Given the description of an element on the screen output the (x, y) to click on. 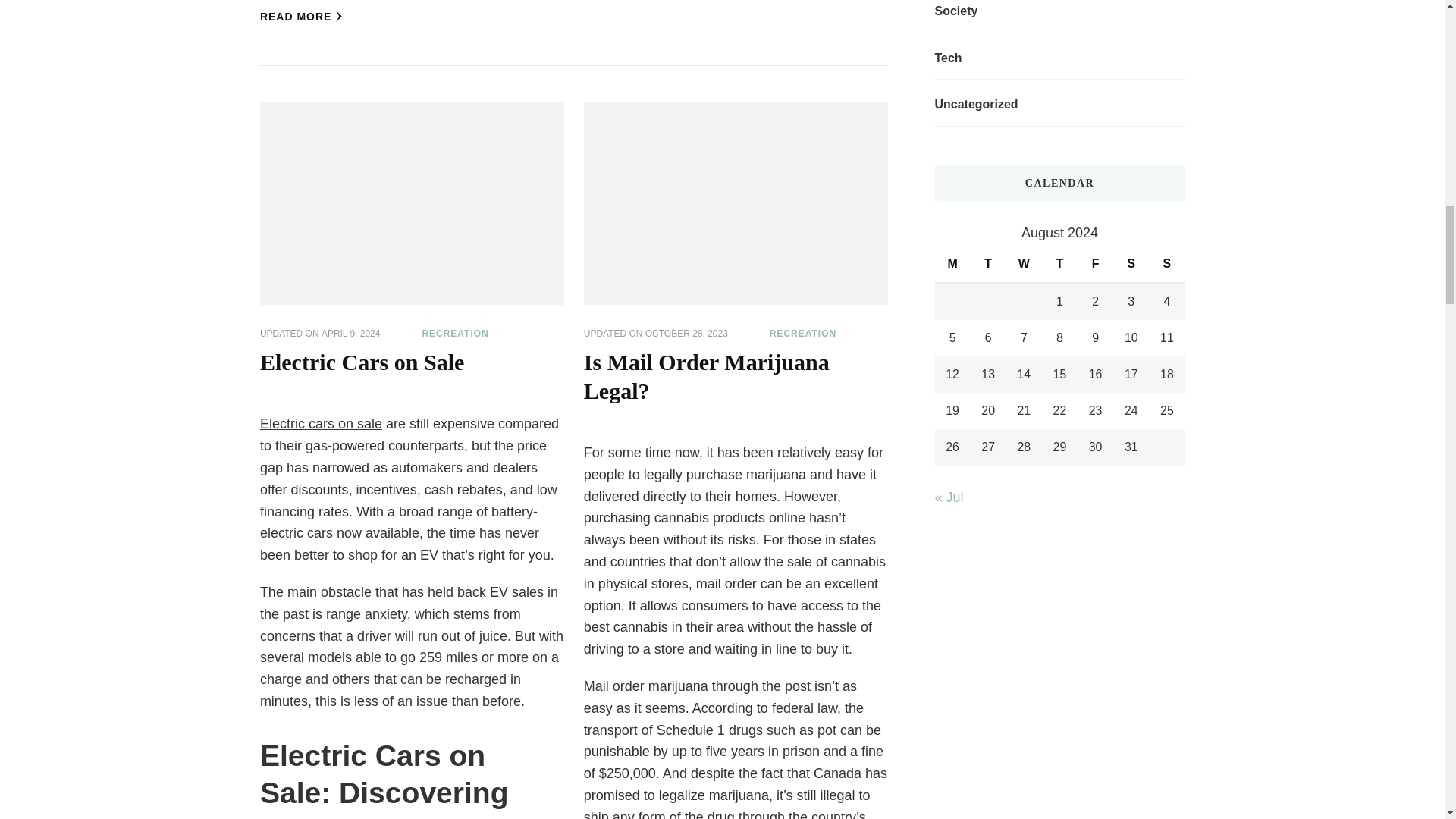
Is Mail Order Marijuana Legal? (706, 376)
Tuesday (988, 263)
Electric cars on sale (320, 423)
Monday (951, 263)
READ MORE (301, 16)
Friday (1095, 263)
Sunday (1166, 263)
Wednesday (1024, 263)
Thursday (1059, 263)
RECREATION (454, 334)
